Given the description of an element on the screen output the (x, y) to click on. 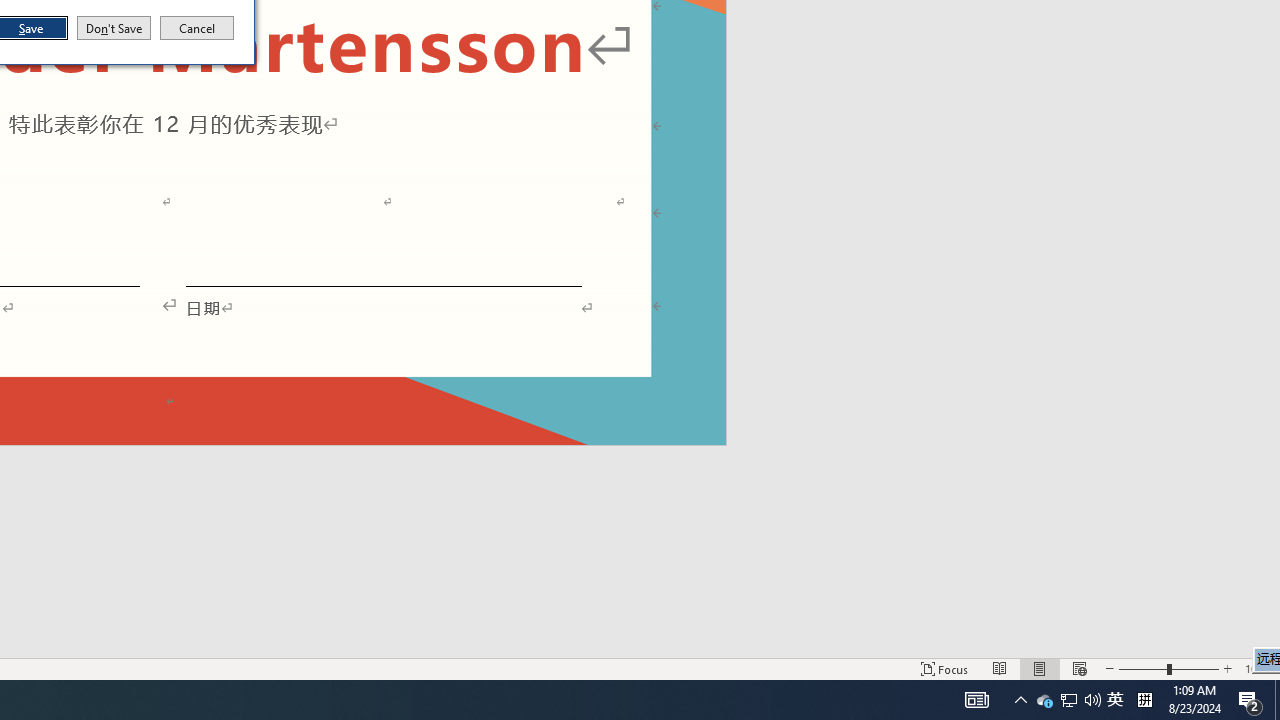
Action Center, 2 new notifications (1115, 699)
Focus  (1250, 699)
Don't Save (944, 668)
Notification Chevron (113, 27)
Show desktop (1044, 699)
